Given the description of an element on the screen output the (x, y) to click on. 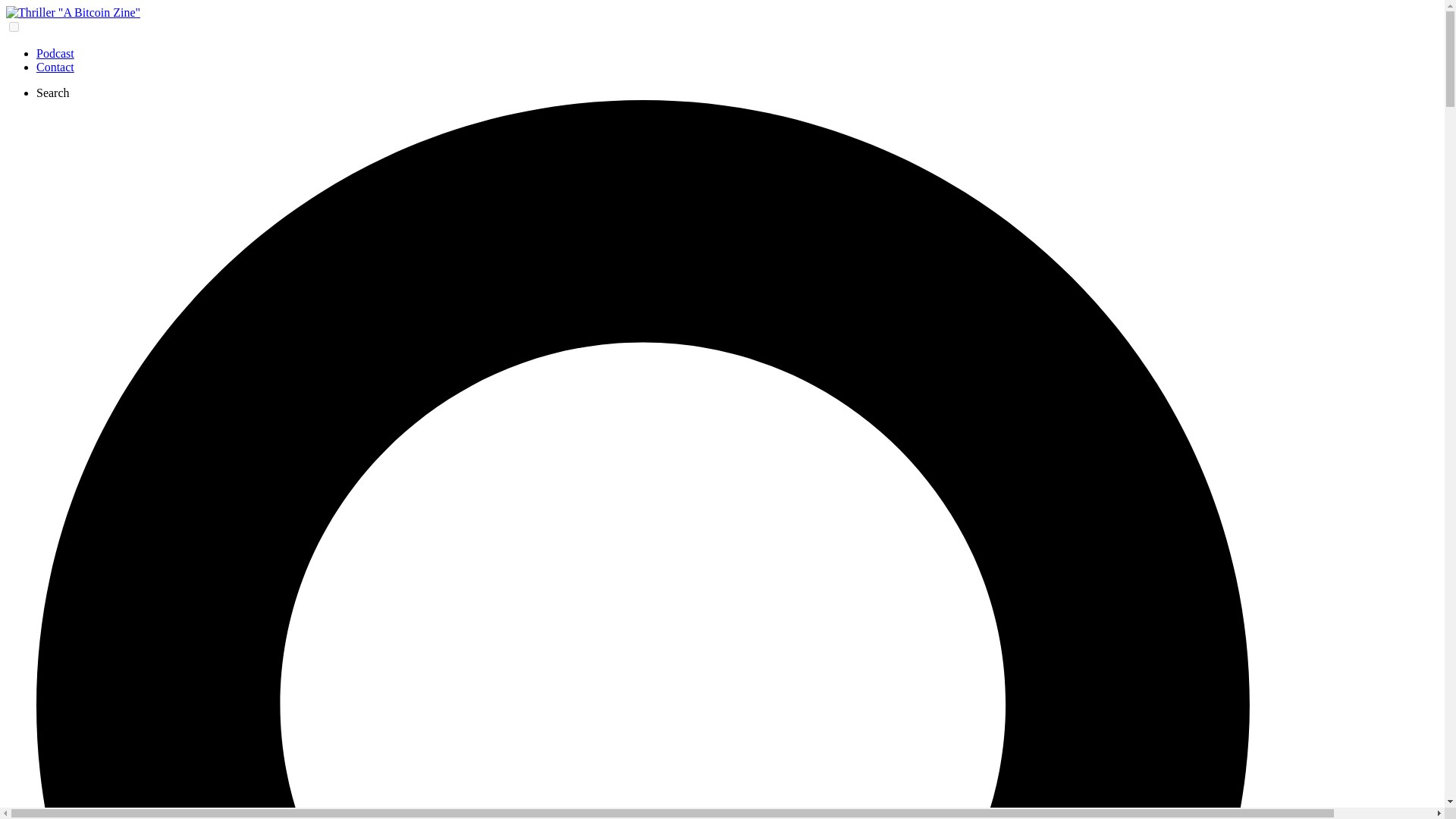
Contact (55, 66)
Podcast (55, 52)
on (13, 26)
